Given the description of an element on the screen output the (x, y) to click on. 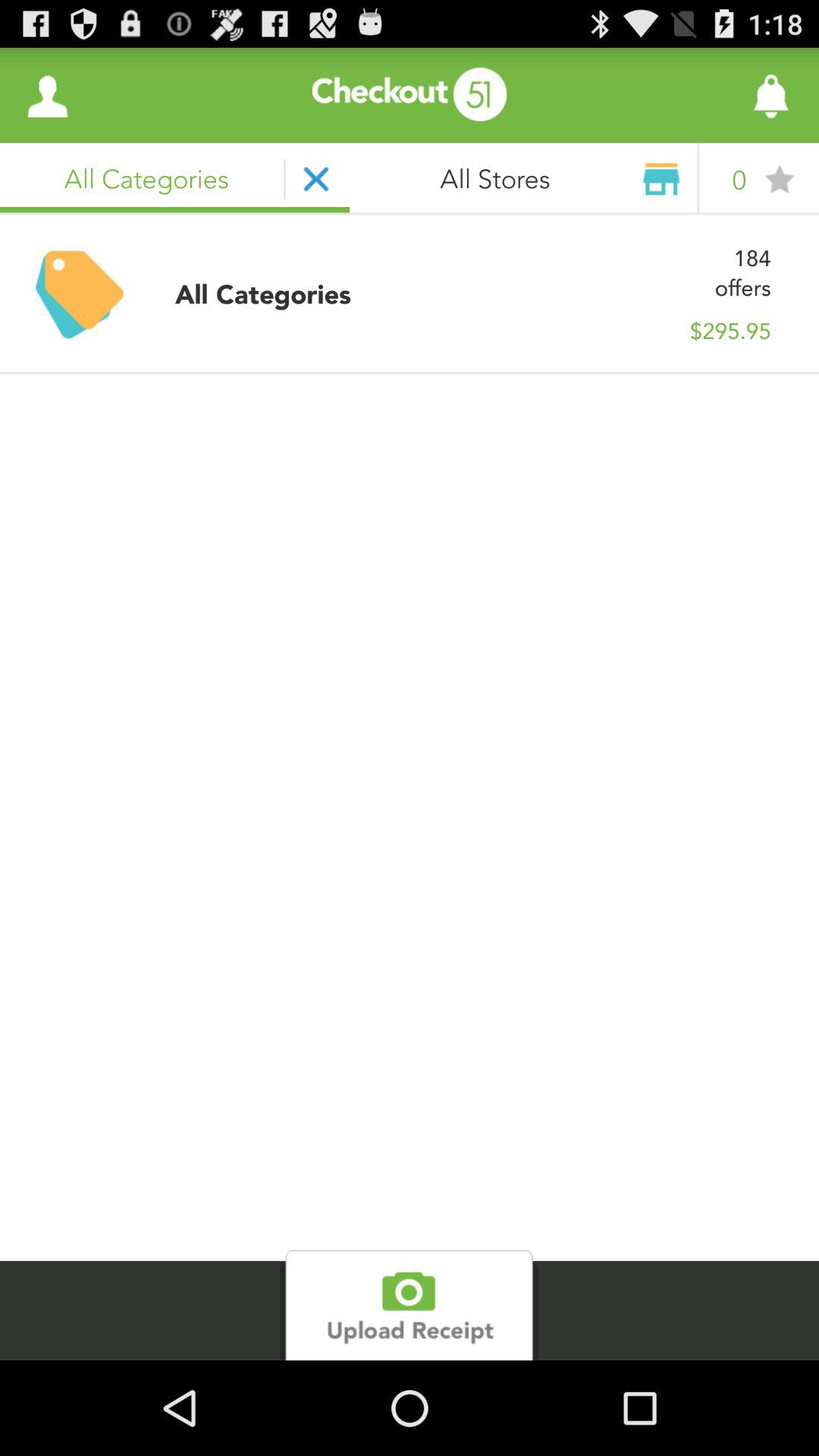
turn off the item to the left of all stores (47, 95)
